Given the description of an element on the screen output the (x, y) to click on. 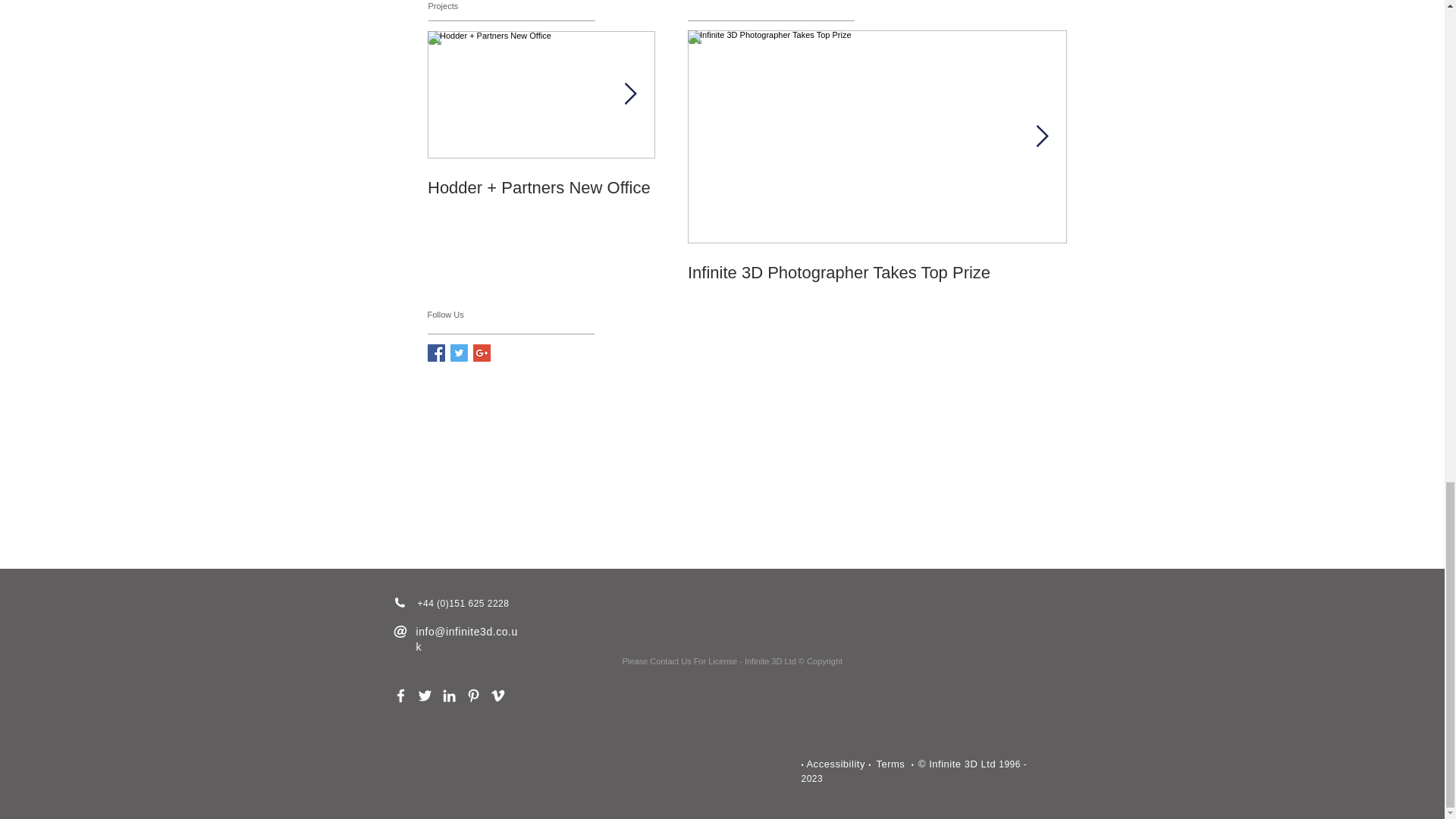
Infinite 3D Photographer Takes Top Prize (876, 272)
KKA - Holiday Inn, Birmingham (768, 197)
